Given the description of an element on the screen output the (x, y) to click on. 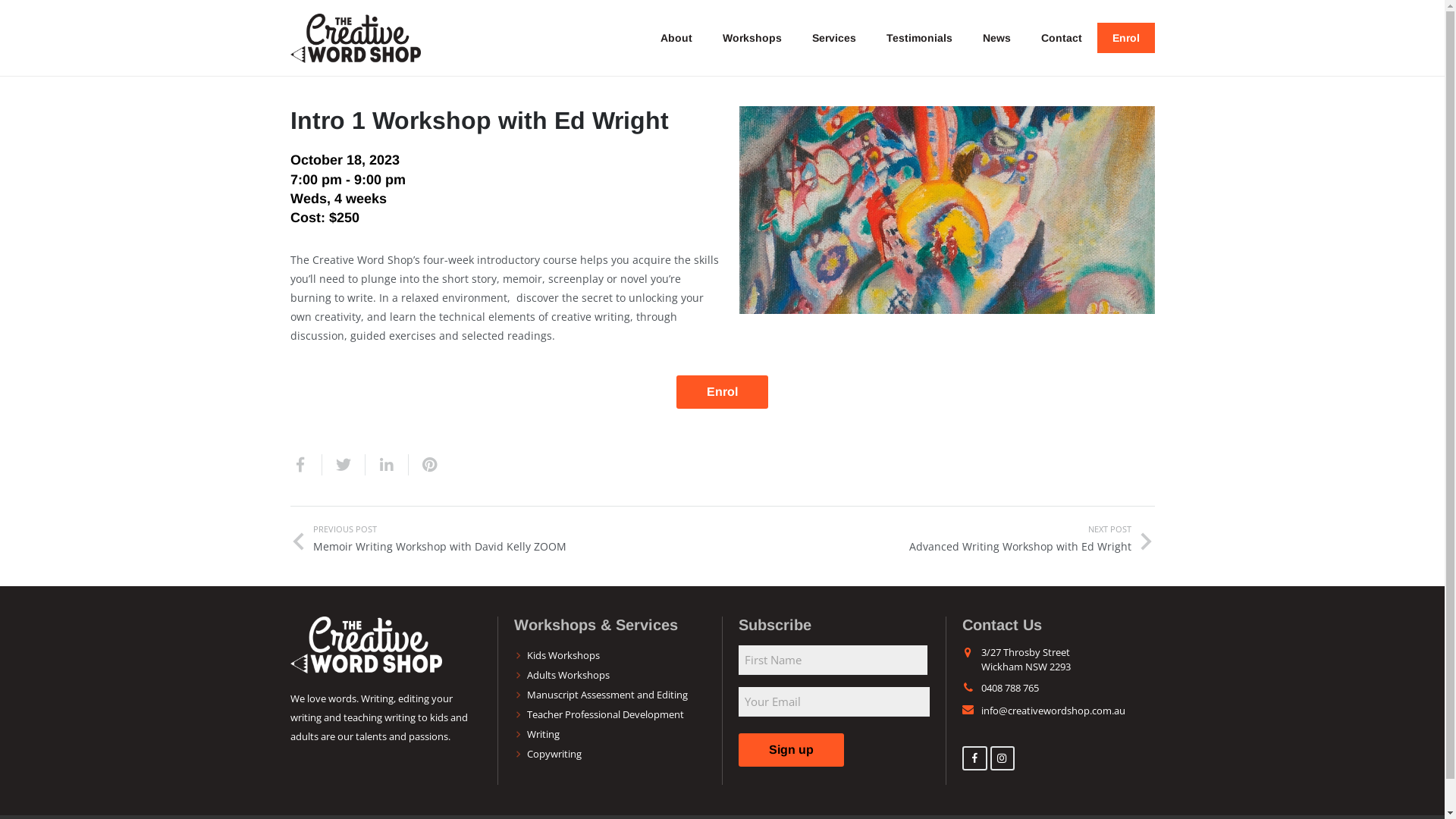
Copywriting Element type: text (554, 753)
Share this Element type: hover (305, 464)
Contact Element type: text (1061, 37)
Workshops Element type: text (752, 37)
News Element type: text (996, 37)
About Element type: text (676, 37)
Services Element type: text (834, 37)
Enrol Element type: text (722, 391)
PREVIOUS POST
Memoir Writing Workshop with David Kelly ZOOM Element type: text (505, 538)
NEXT POST
Advanced Writing Workshop with Ed Wright Element type: text (937, 538)
Writing Element type: text (543, 733)
Sign up Element type: text (791, 749)
Kids Workshops Element type: text (563, 655)
Enrol Element type: text (1125, 37)
Adults Workshops Element type: text (568, 674)
Pin this Element type: hover (423, 464)
info@creativewordshop.com.au Element type: text (1053, 710)
Teacher Professional Development Element type: text (605, 714)
Tweet this Element type: hover (342, 464)
Manuscript Assessment and Editing Element type: text (607, 694)
Testimonials Element type: text (919, 37)
Share this Element type: hover (386, 464)
